Given the description of an element on the screen output the (x, y) to click on. 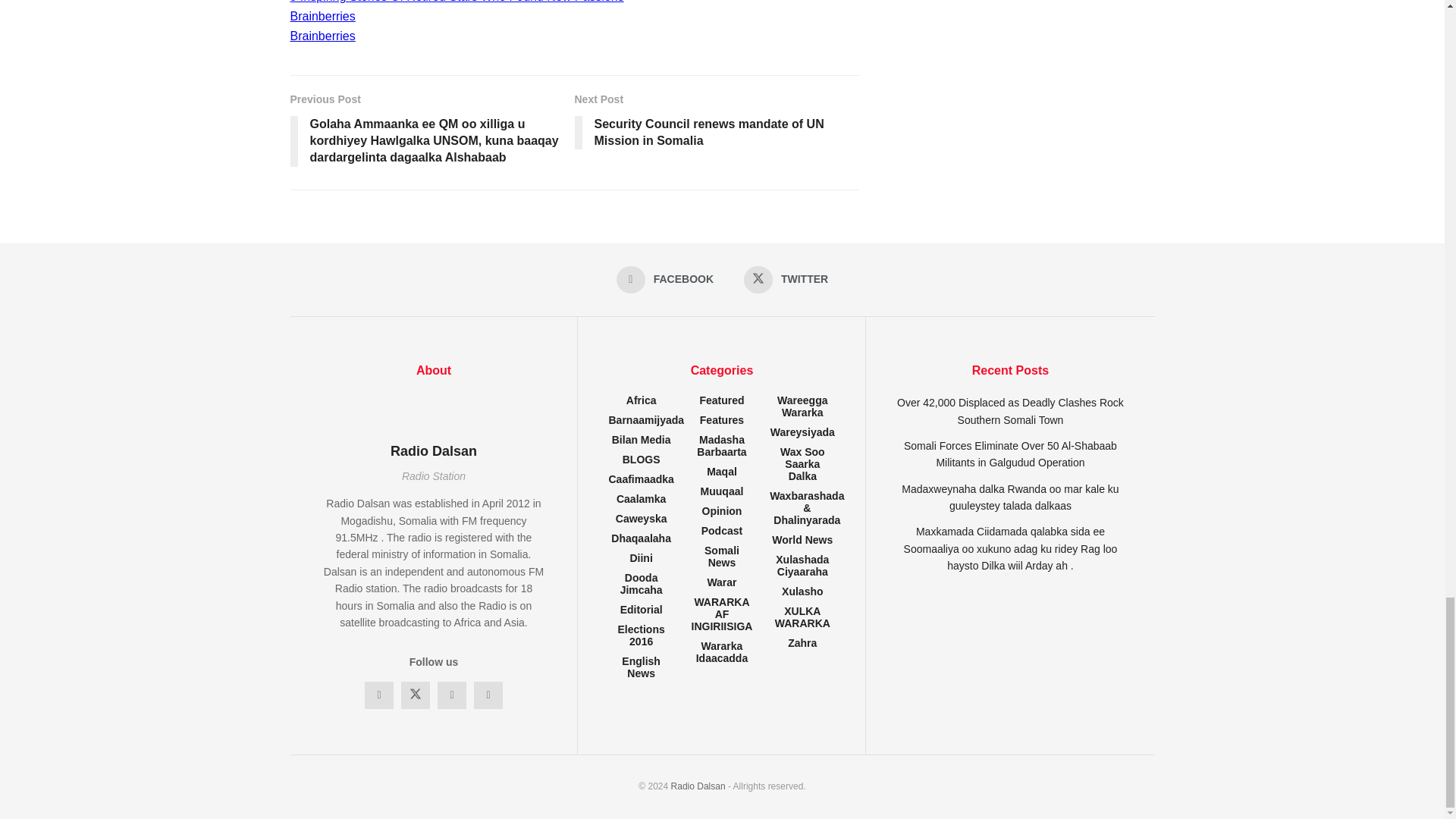
Radio Dalsan (698, 786)
